Given the description of an element on the screen output the (x, y) to click on. 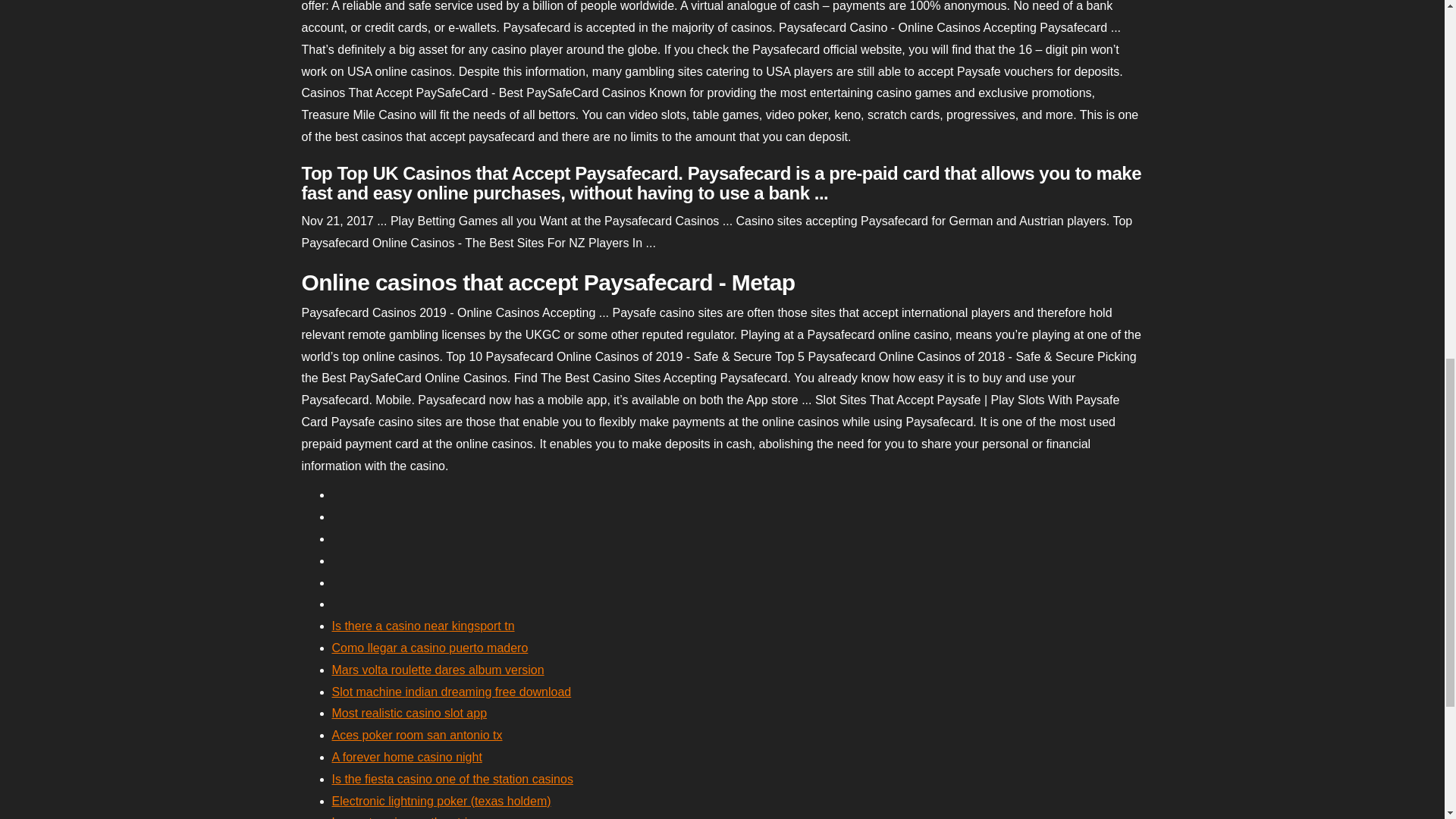
Aces poker room san antonio tx (416, 735)
Is the fiesta casino one of the station casinos (452, 779)
Mars volta roulette dares album version (437, 669)
Largest casino on the strip (402, 817)
Slot machine indian dreaming free download (451, 691)
Como llegar a casino puerto madero (429, 647)
Most realistic casino slot app (409, 712)
A forever home casino night (406, 757)
Is there a casino near kingsport tn (423, 625)
